Given the description of an element on the screen output the (x, y) to click on. 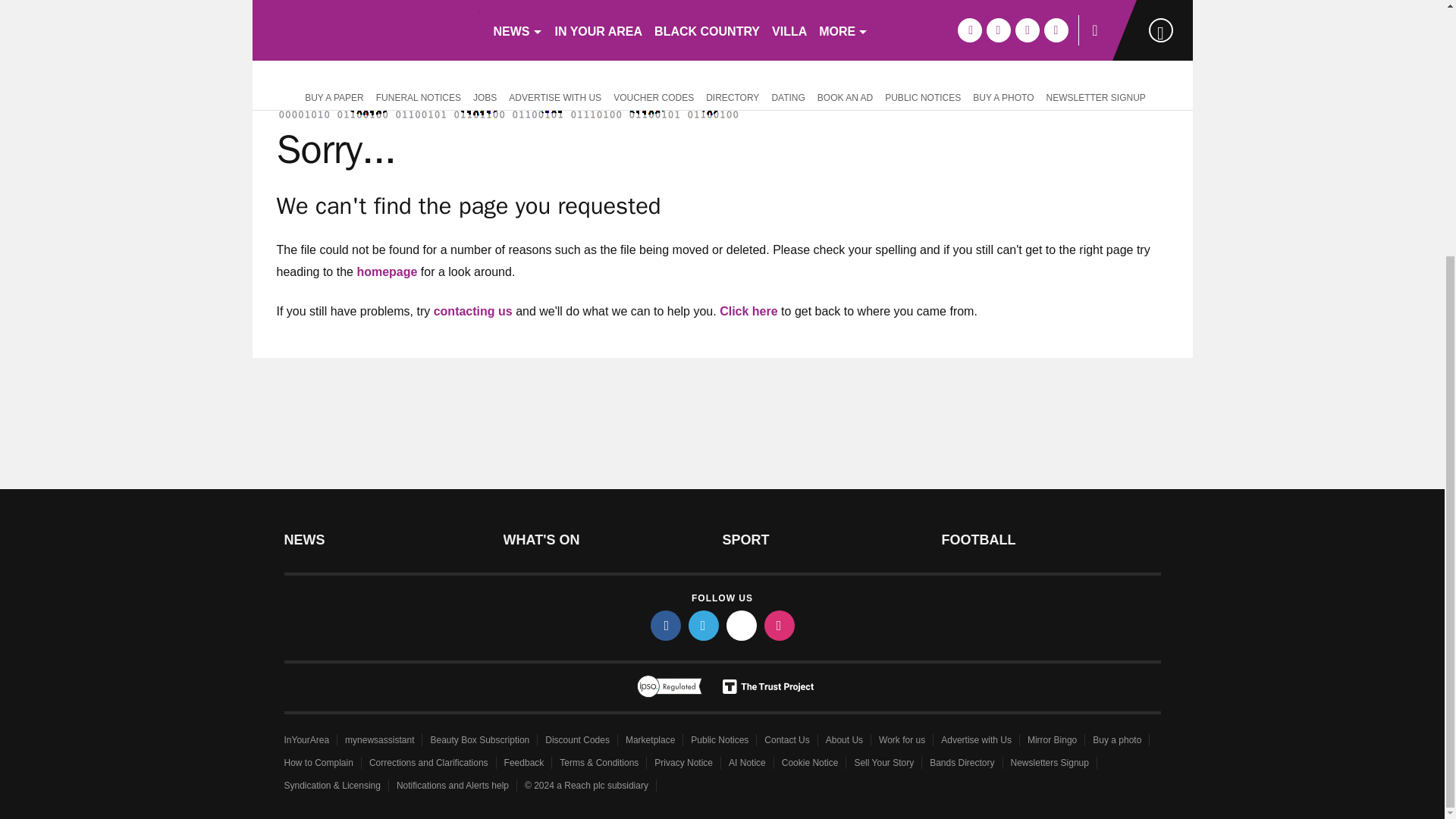
facebook (665, 625)
instagram (779, 625)
tiktok (741, 625)
twitter (703, 625)
